Given the description of an element on the screen output the (x, y) to click on. 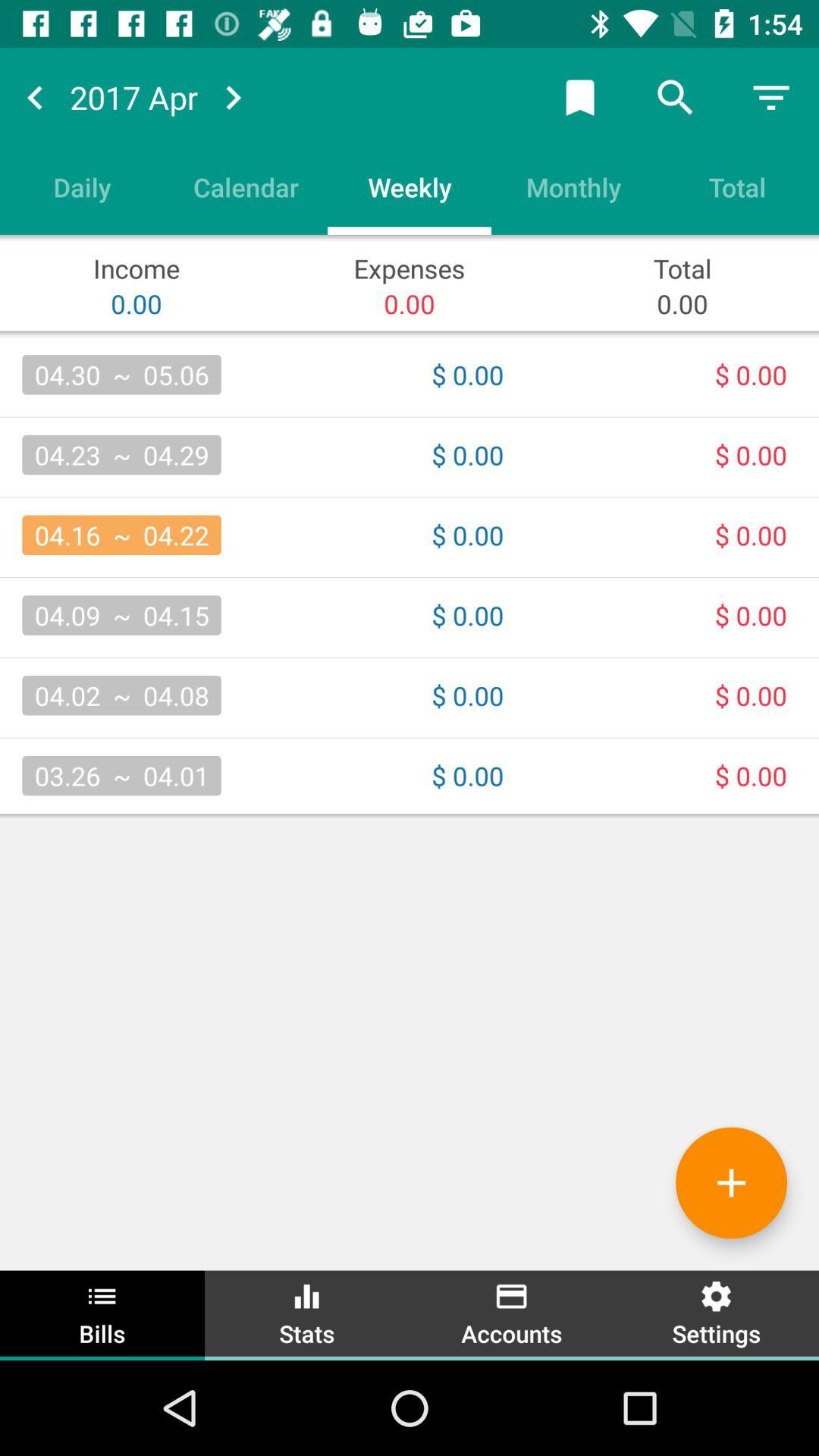
scroll to calendar item (245, 186)
